Given the description of an element on the screen output the (x, y) to click on. 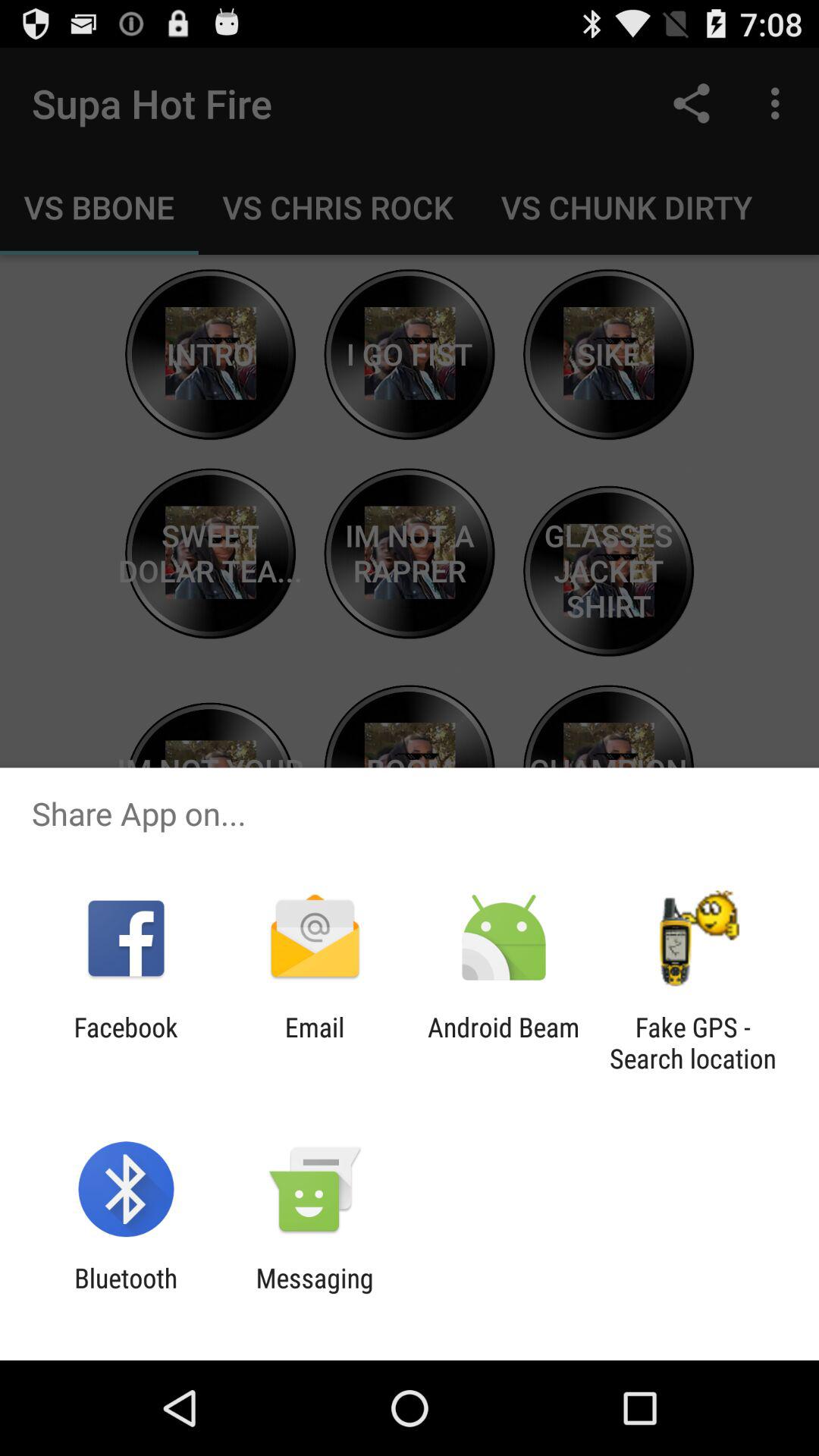
click icon next to fake gps search (503, 1042)
